Given the description of an element on the screen output the (x, y) to click on. 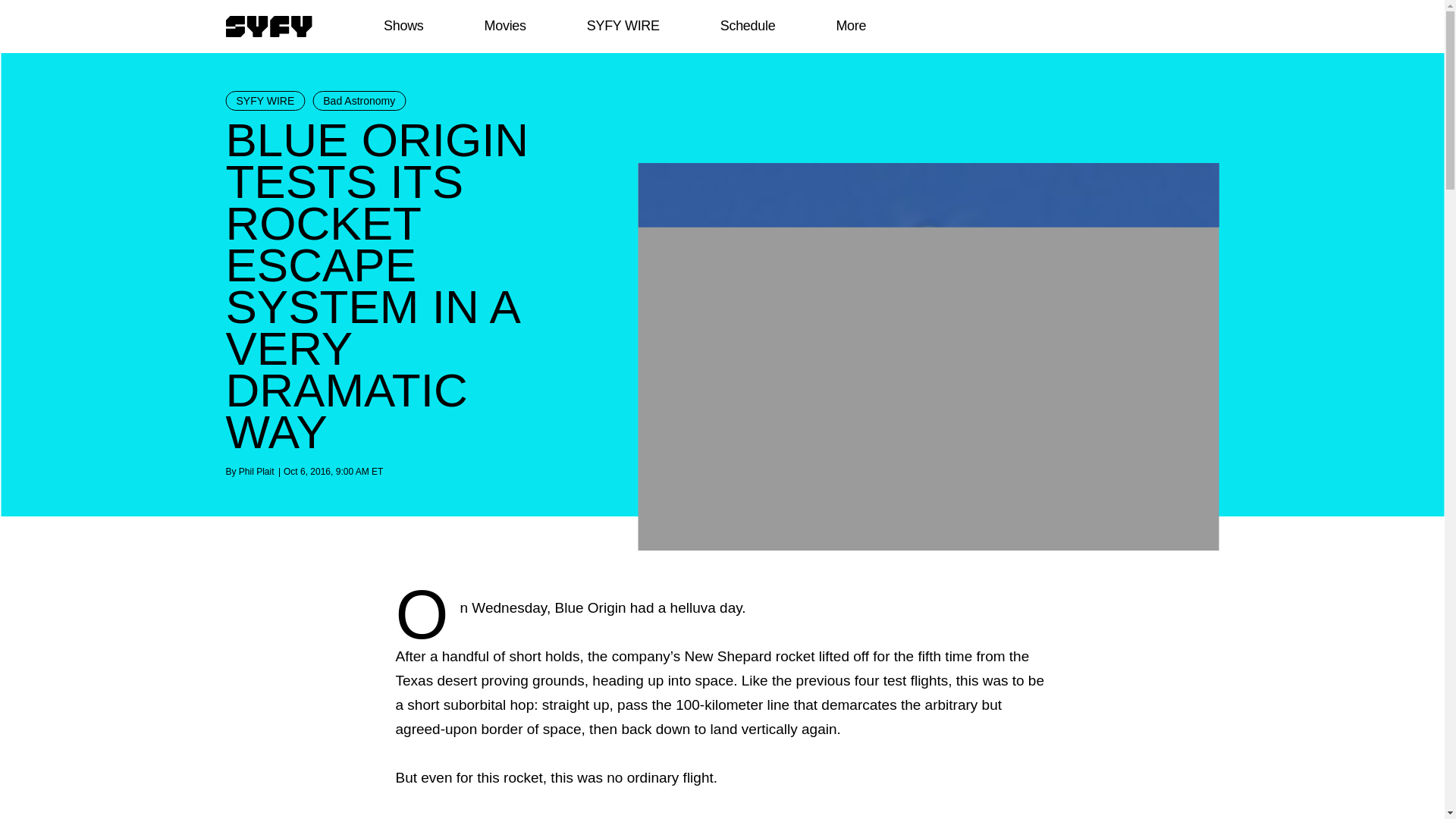
Schedule (746, 26)
Bad Astronomy (359, 100)
Movies (504, 26)
SYFY WIRE (265, 100)
More (850, 26)
Phil Plait (256, 471)
SYFY WIRE (622, 26)
Shows (403, 26)
